Given the description of an element on the screen output the (x, y) to click on. 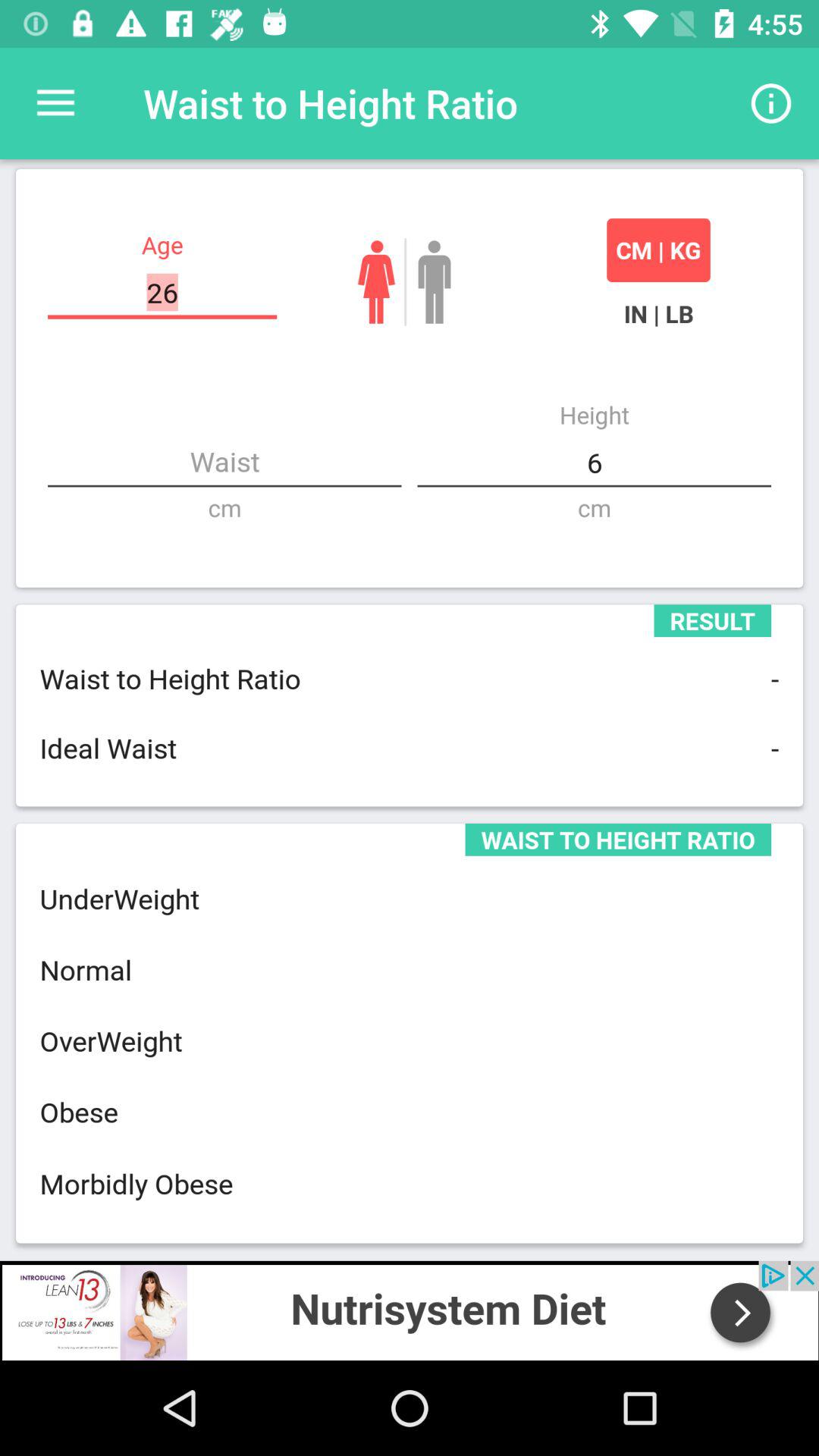
click the right side height button 6 (594, 462)
